Given the description of an element on the screen output the (x, y) to click on. 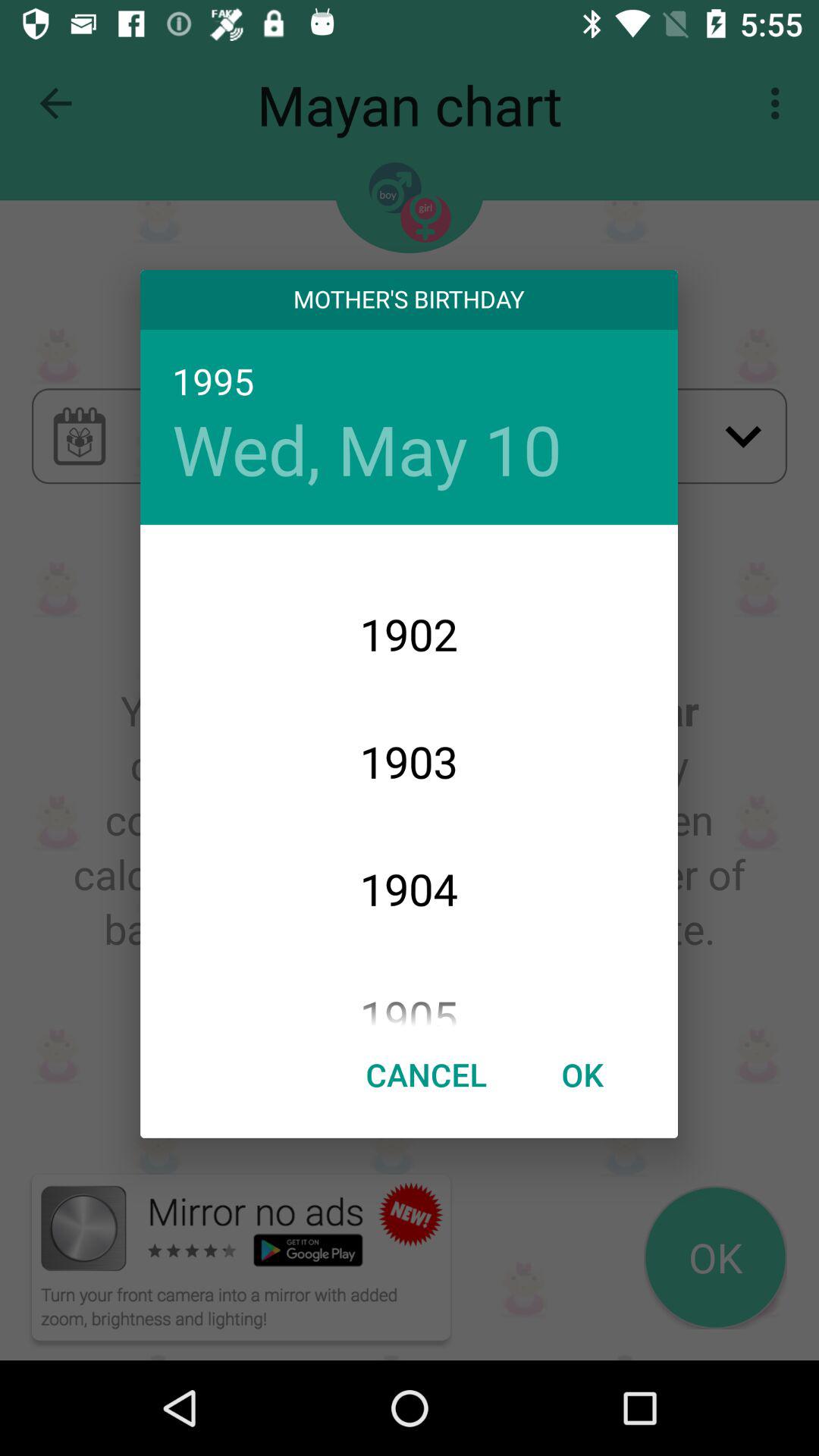
select 1995 icon (409, 382)
